Given the description of an element on the screen output the (x, y) to click on. 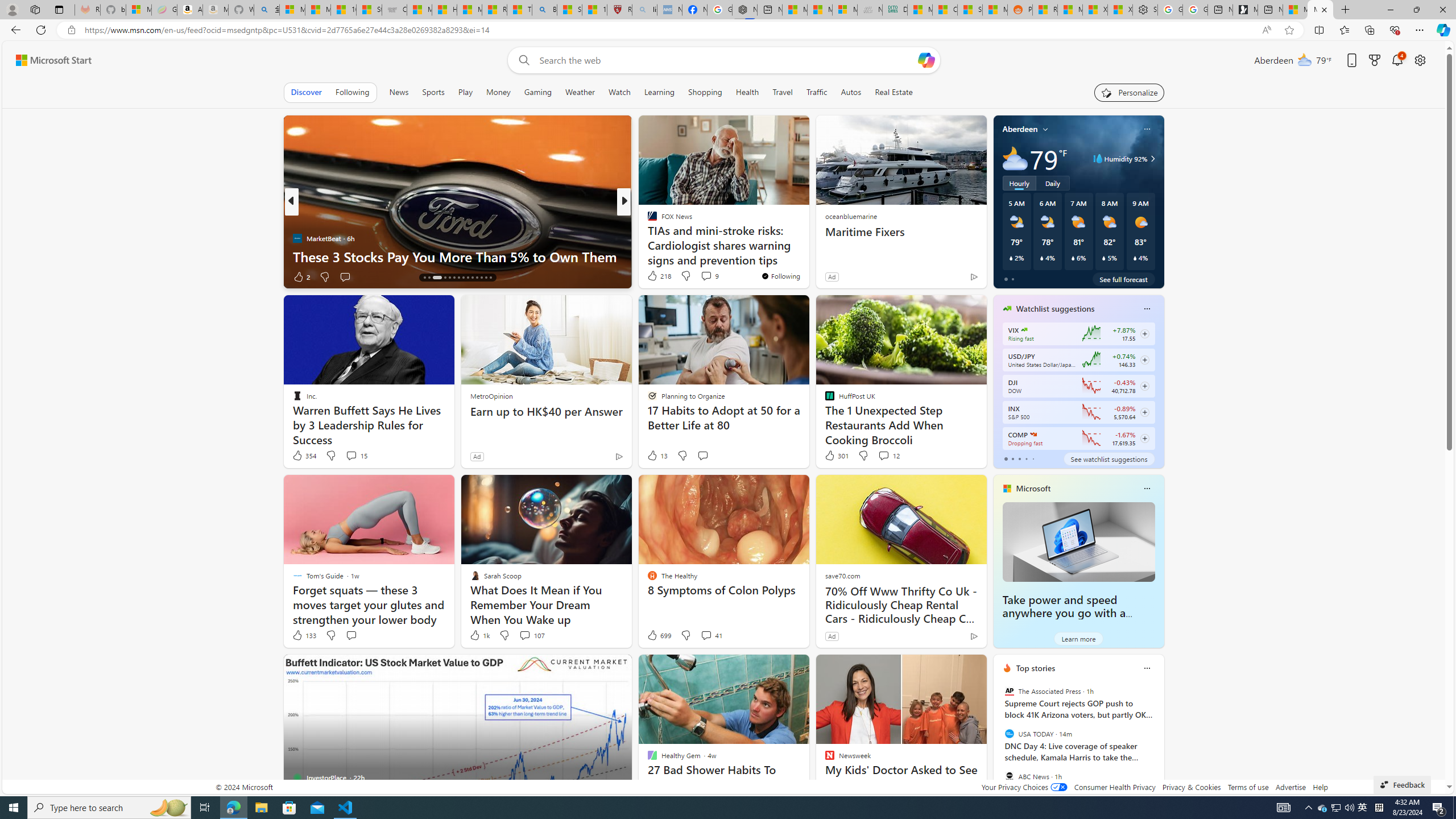
CBOE Market Volatility Index (1023, 329)
save70.com (842, 574)
AutomationID: tab-15 (424, 277)
Bing (544, 9)
MetroOpinion (491, 395)
AutomationID: tab-18 (444, 277)
Robert H. Shmerling, MD - Harvard Health (619, 9)
301 Like (835, 455)
354 Like (303, 455)
How I Got Rid of Microsoft Edge's Unnecessary Features (443, 9)
